Given the description of an element on the screen output the (x, y) to click on. 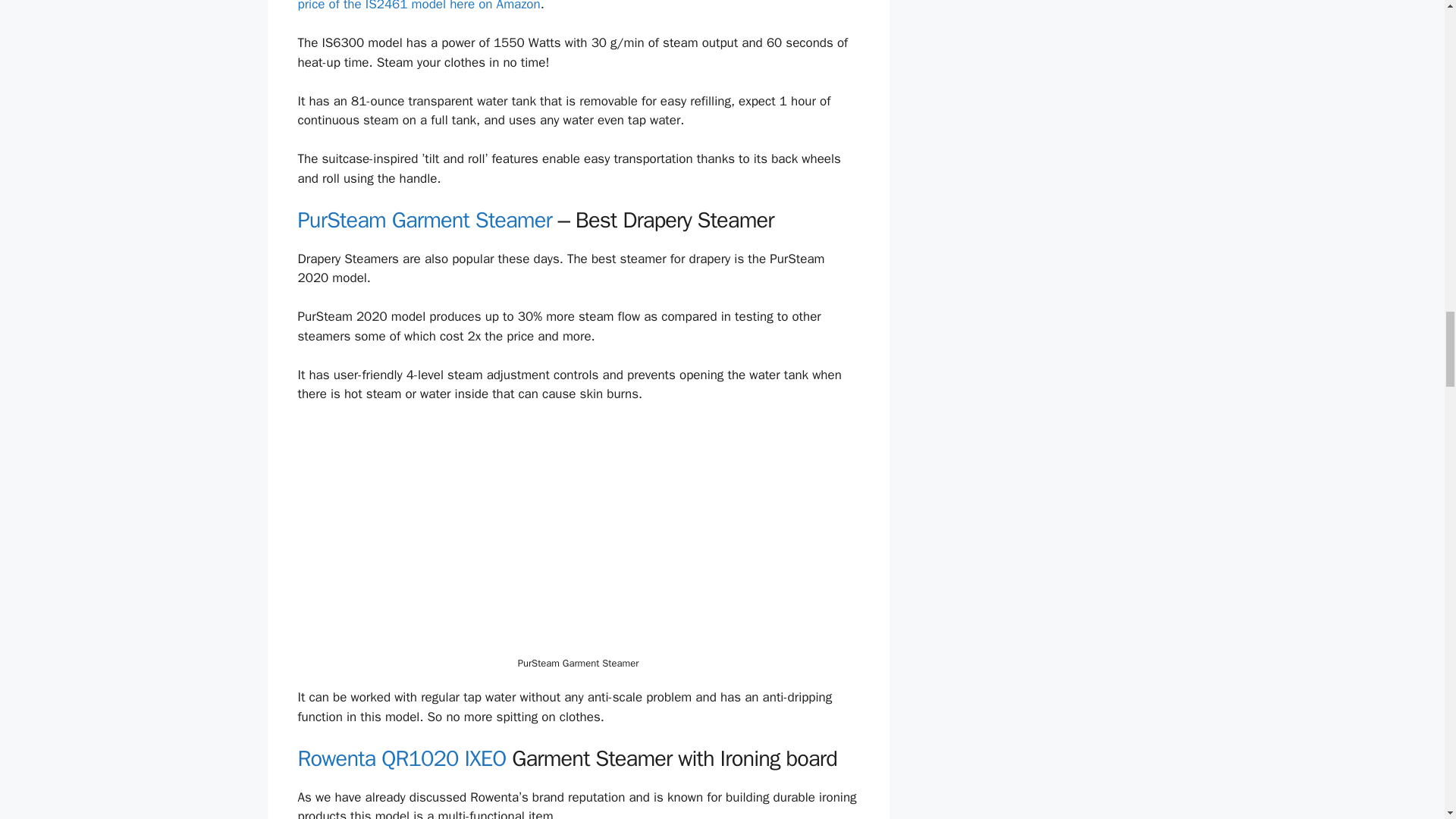
check the price of the IS2461 model here on Amazon (569, 6)
PurSteam Garment Steamer (424, 220)
Rowenta QR1020 IXEO (401, 758)
